Given the description of an element on the screen output the (x, y) to click on. 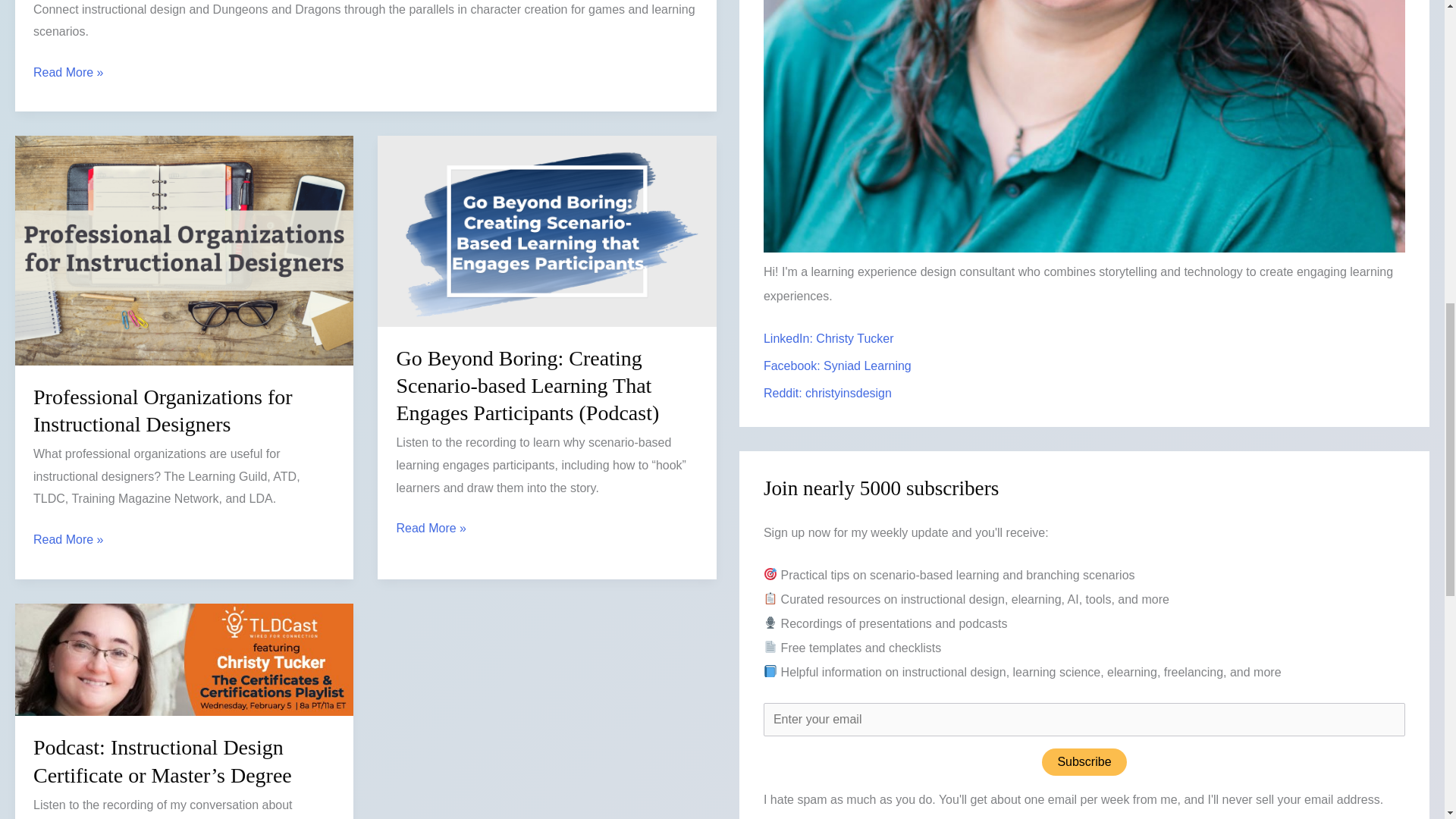
LinkedIn: Christy Tucker (827, 338)
Professional Organizations for Instructional Designers (162, 409)
Enter your email (1083, 719)
Facebook: Syniad Learning (836, 365)
